Given the description of an element on the screen output the (x, y) to click on. 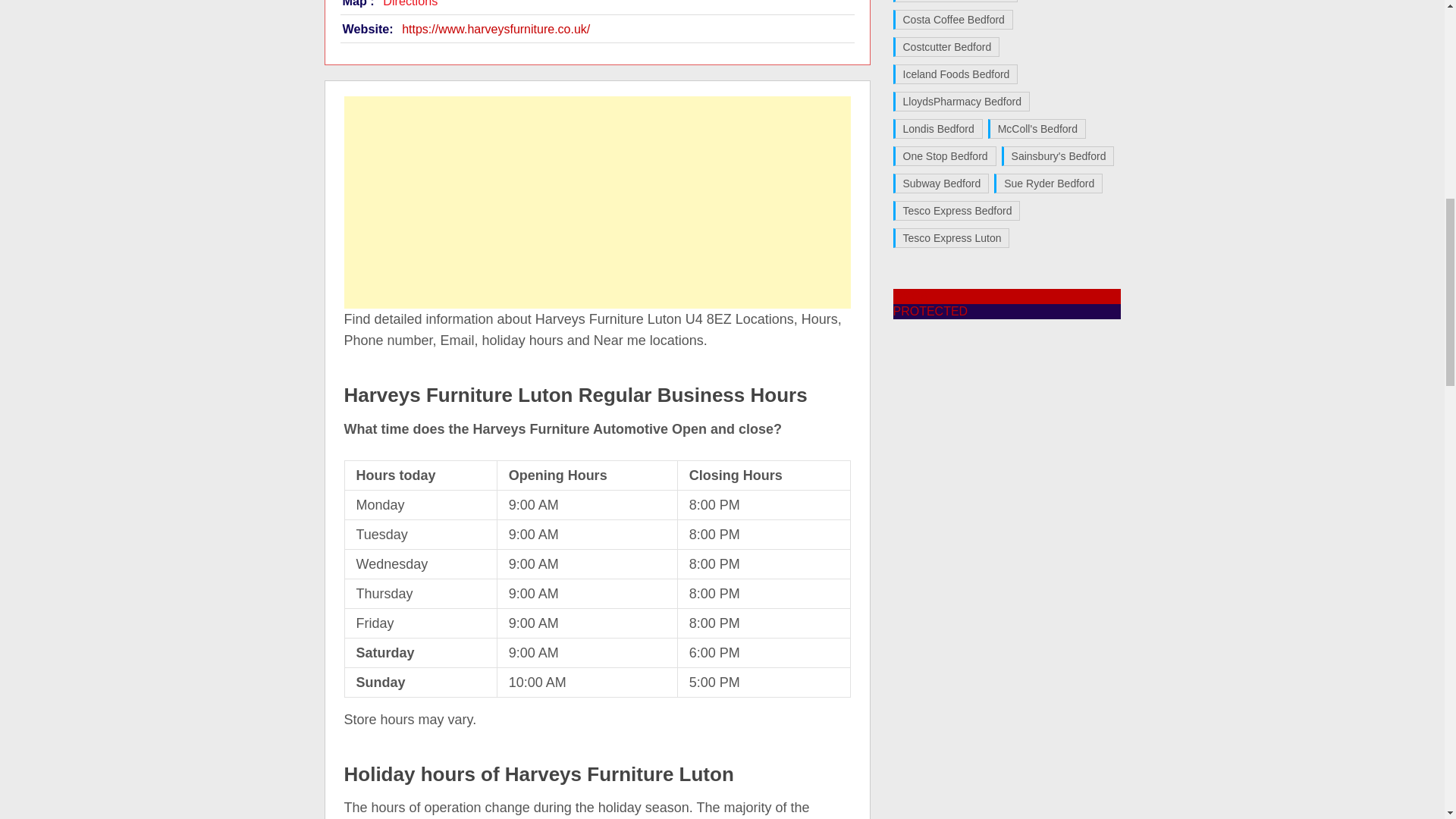
DMCA (930, 310)
DMCA (910, 295)
Harveys Furniture Hours (495, 29)
